Given the description of an element on the screen output the (x, y) to click on. 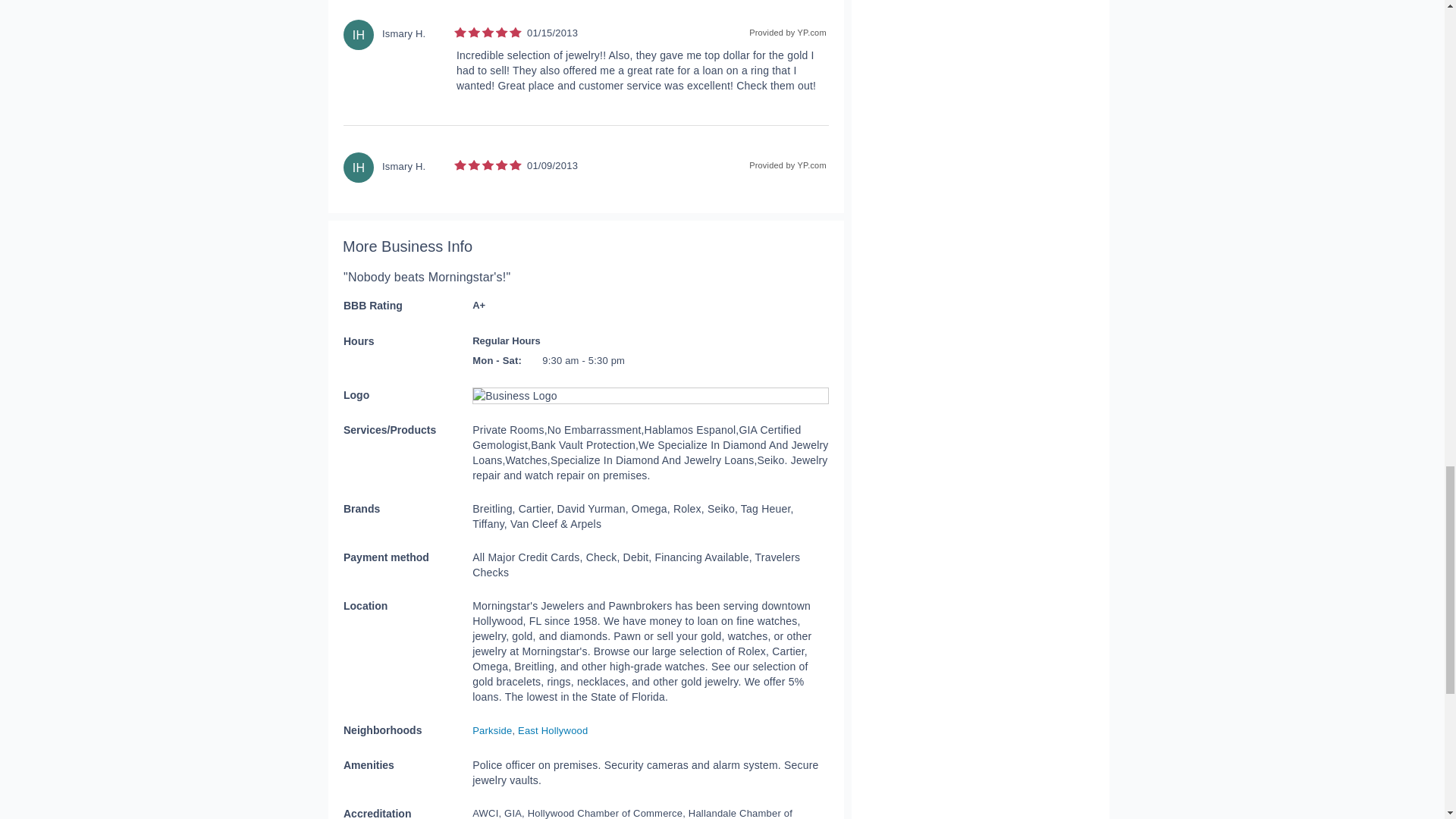
East Hollywood (553, 730)
Parkside (491, 730)
